Given the description of an element on the screen output the (x, y) to click on. 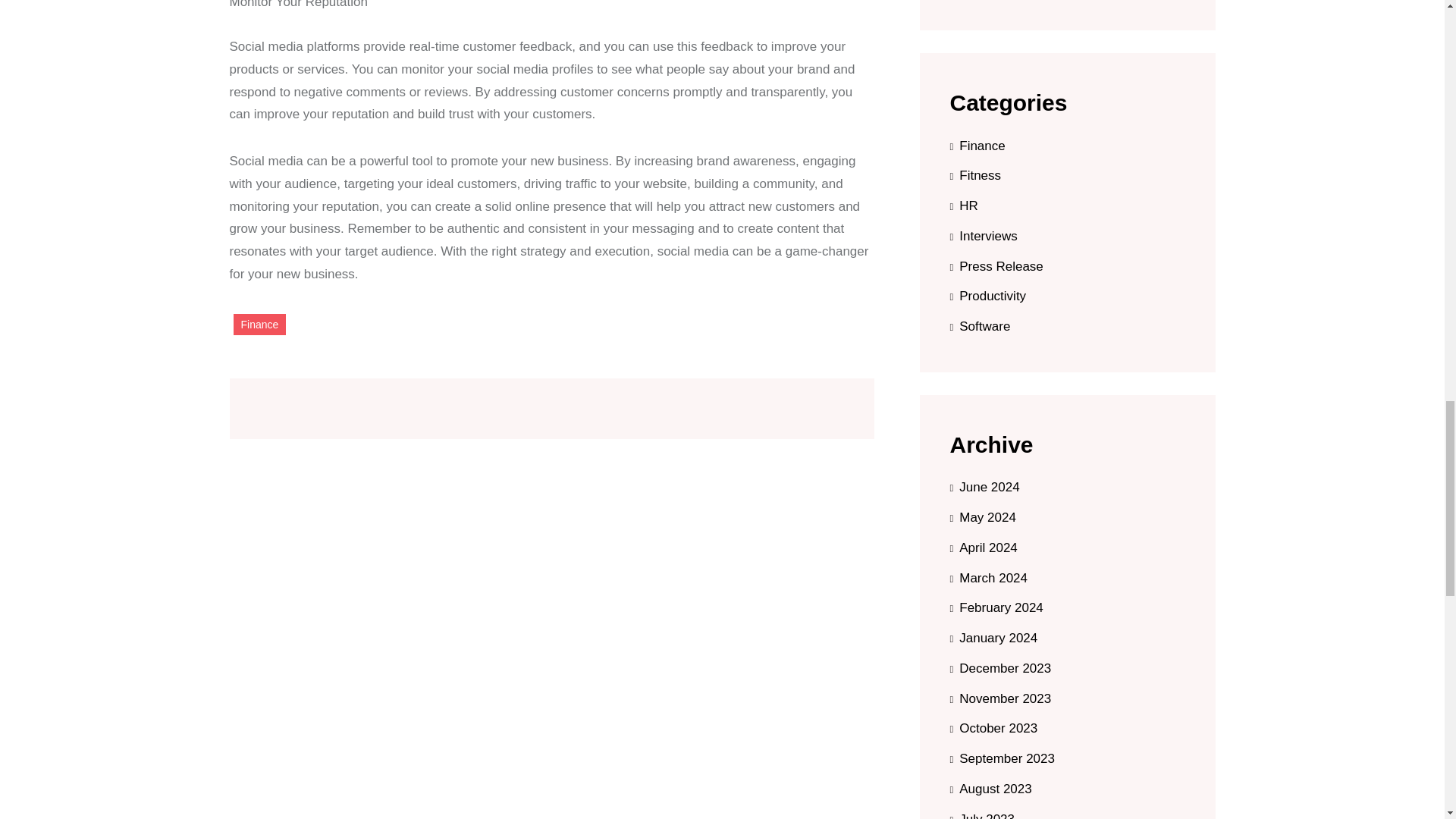
Fitness (975, 175)
March 2024 (988, 577)
May 2024 (981, 517)
Interviews (982, 236)
Software (979, 327)
Press Release (995, 266)
April 2024 (982, 548)
Finance (976, 145)
Finance (259, 324)
December 2023 (1000, 668)
June 2024 (984, 487)
Productivity (987, 296)
February 2024 (995, 607)
January 2024 (992, 638)
HR (962, 205)
